Given the description of an element on the screen output the (x, y) to click on. 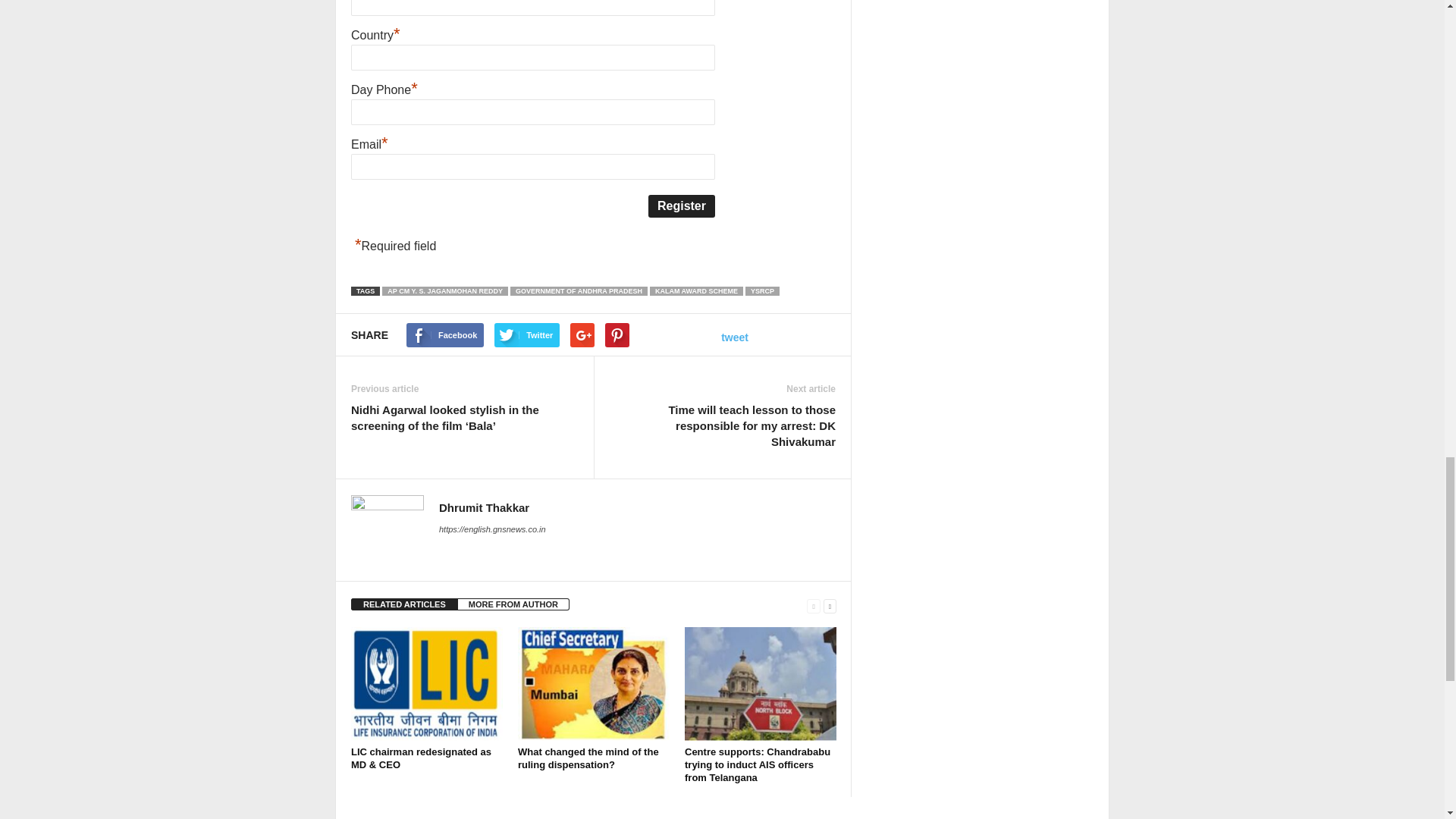
Register (680, 205)
What changed the mind of the ruling dispensation? (588, 758)
What changed the mind of the ruling dispensation? (593, 684)
